Given the description of an element on the screen output the (x, y) to click on. 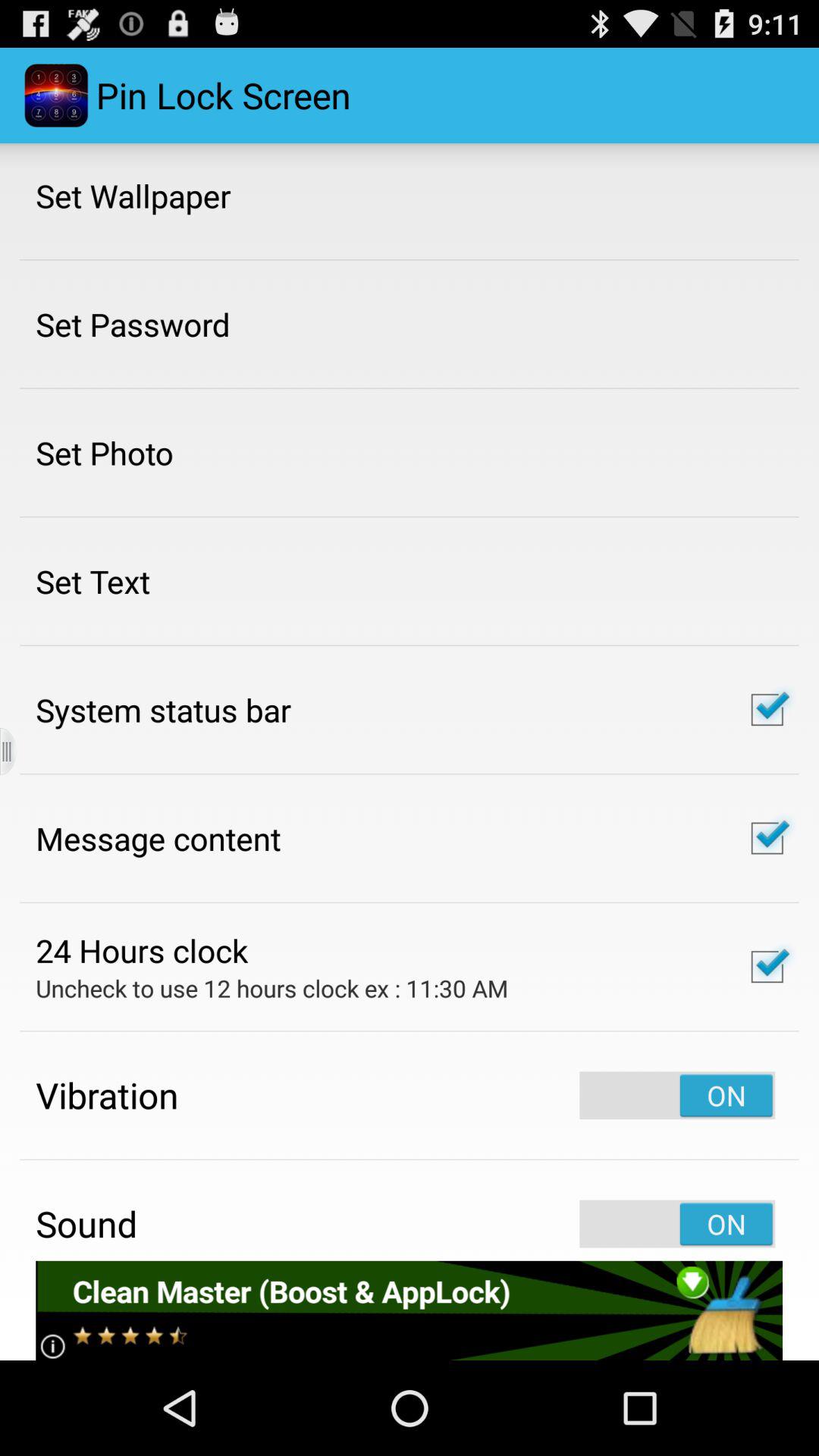
go to advertisement website (408, 1310)
